Given the description of an element on the screen output the (x, y) to click on. 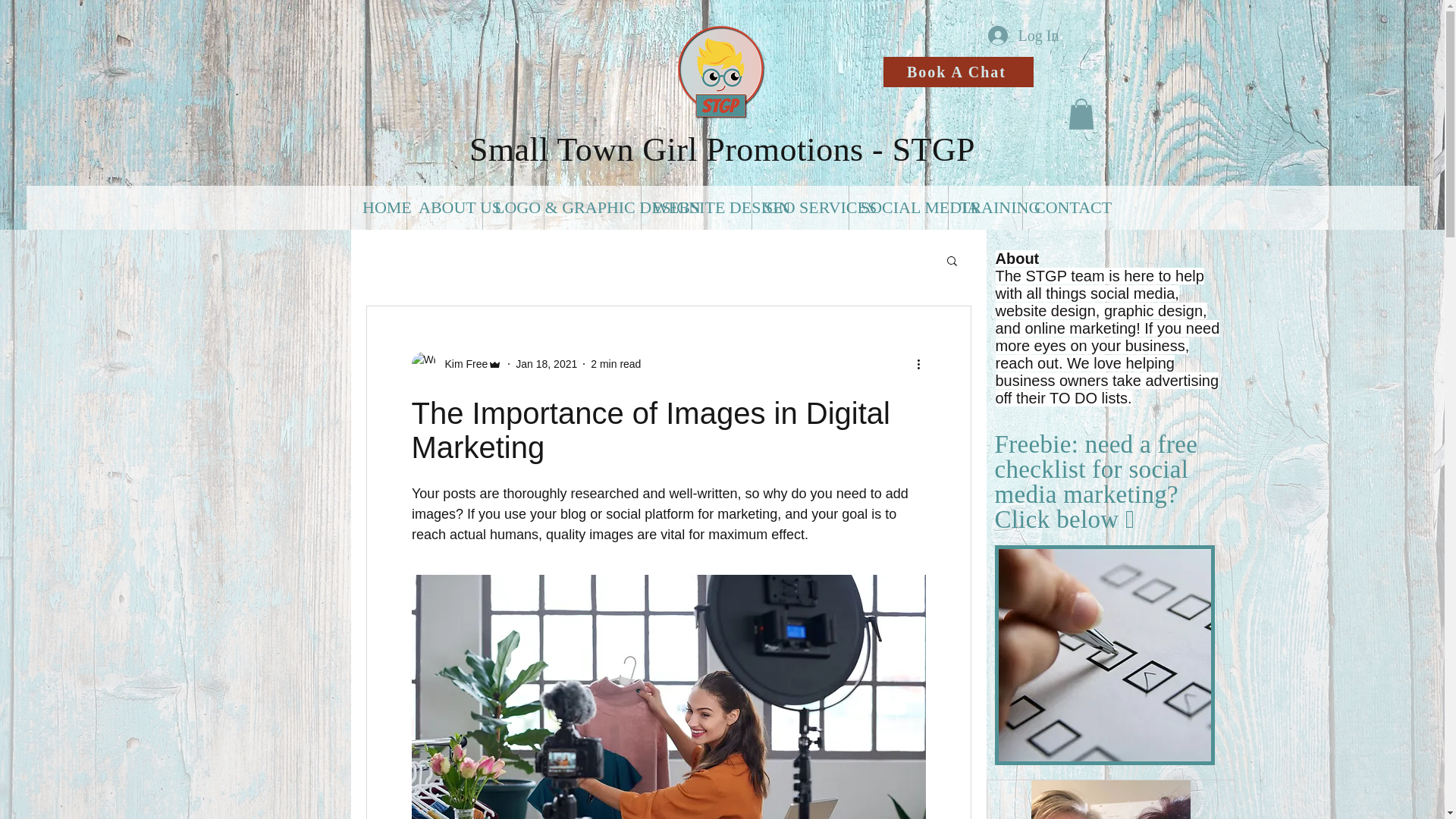
HOME (378, 207)
TRAINING (984, 207)
WEBSITE DESIGN (695, 207)
Kim Free (461, 364)
ABOUT US (443, 207)
Book A Chat (957, 71)
Log In (1021, 35)
SEO SERVICES (799, 207)
SOCIAL MEDIA (897, 207)
Kim Free (456, 363)
Jan 18, 2021 (545, 363)
CONTACT (1058, 207)
2 min read (615, 363)
